Given the description of an element on the screen output the (x, y) to click on. 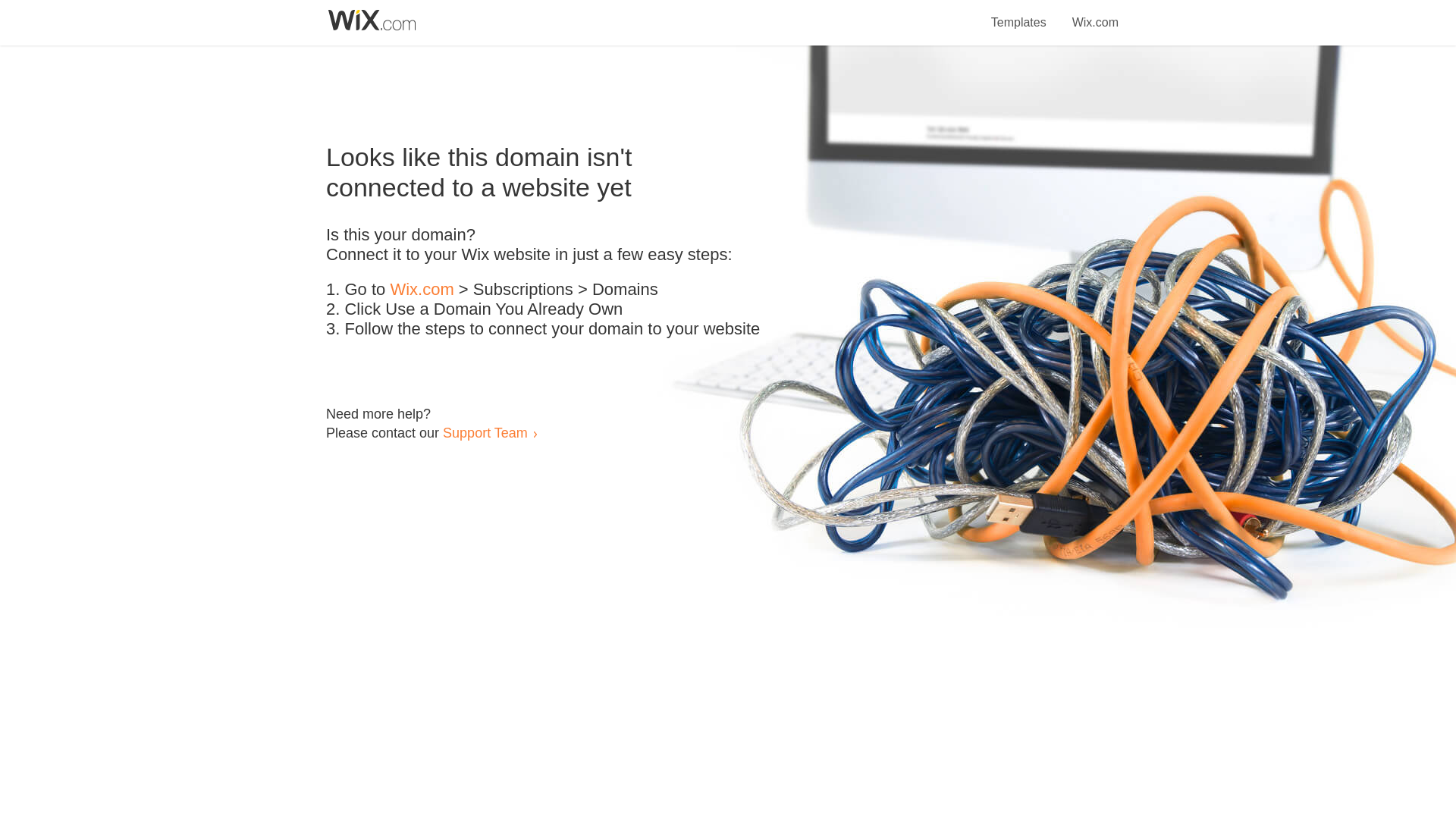
Templates (1018, 14)
Wix.com (421, 289)
Wix.com (1095, 14)
Support Team (484, 432)
